Given the description of an element on the screen output the (x, y) to click on. 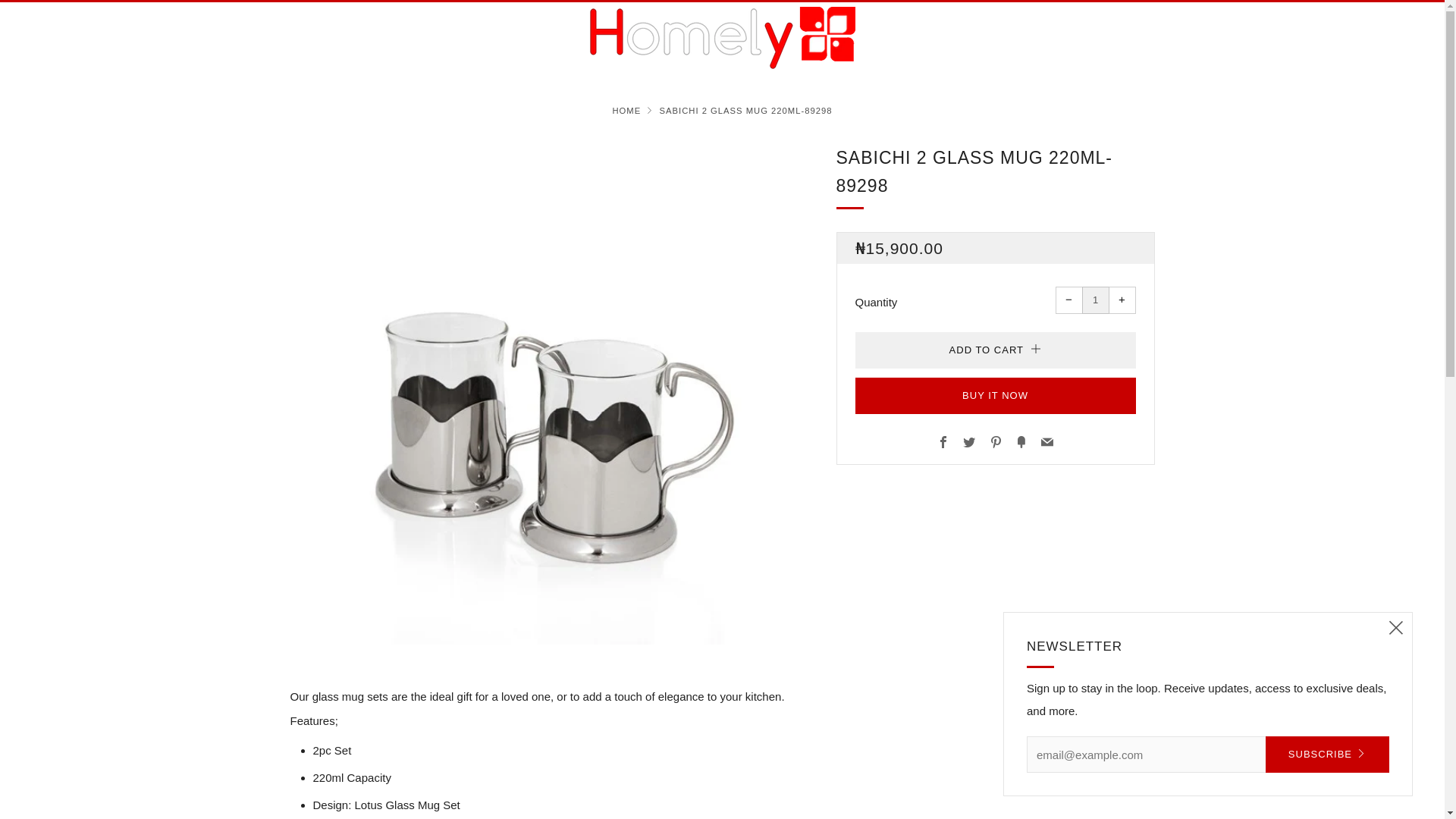
Home (625, 110)
1 (1094, 299)
